Given the description of an element on the screen output the (x, y) to click on. 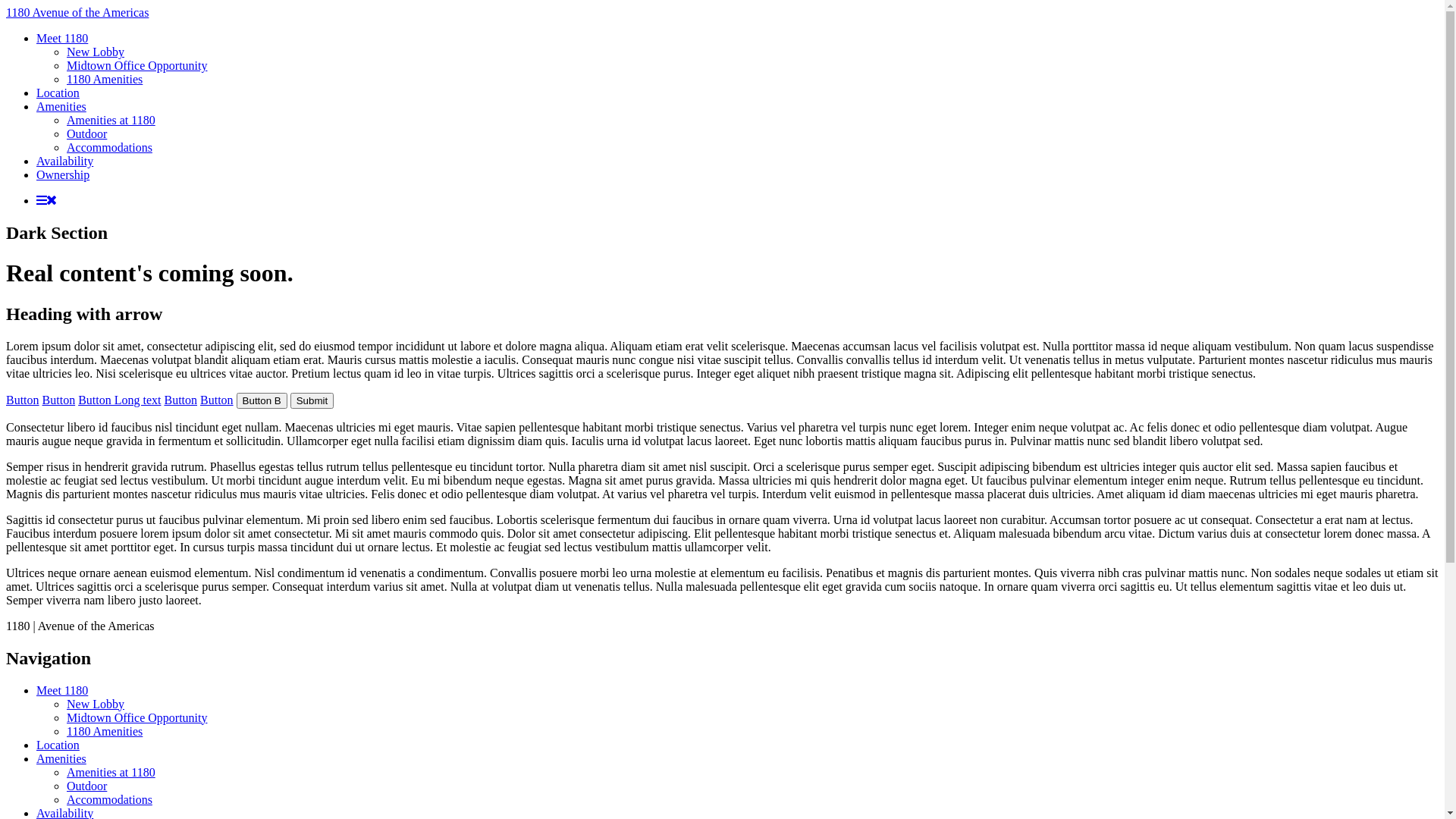
Meet 1180 Element type: text (61, 37)
Ownership Element type: text (62, 174)
Outdoor Element type: text (86, 785)
Button Long text Element type: text (119, 399)
1180 Amenities Element type: text (104, 730)
Midtown Office Opportunity Element type: text (136, 65)
New Lobby Element type: text (95, 51)
Outdoor Element type: text (86, 133)
Accommodations Element type: text (109, 799)
1180 Amenities Element type: text (104, 78)
Button B Element type: text (261, 400)
Accommodations Element type: text (109, 147)
New Lobby Element type: text (95, 703)
Submit Element type: text (311, 400)
Meet 1180 Element type: text (61, 690)
Midtown Office Opportunity Element type: text (136, 717)
Button Element type: text (22, 399)
Button Element type: text (180, 399)
Amenities at 1180 Element type: text (110, 119)
1180 Avenue of the Americas Element type: text (77, 12)
Location Element type: text (57, 92)
Amenities Element type: text (61, 758)
Amenities Element type: text (61, 106)
Availability Element type: text (64, 160)
Button Element type: text (58, 399)
Button Element type: text (216, 399)
Location Element type: text (57, 744)
Amenities at 1180 Element type: text (110, 771)
